Given the description of an element on the screen output the (x, y) to click on. 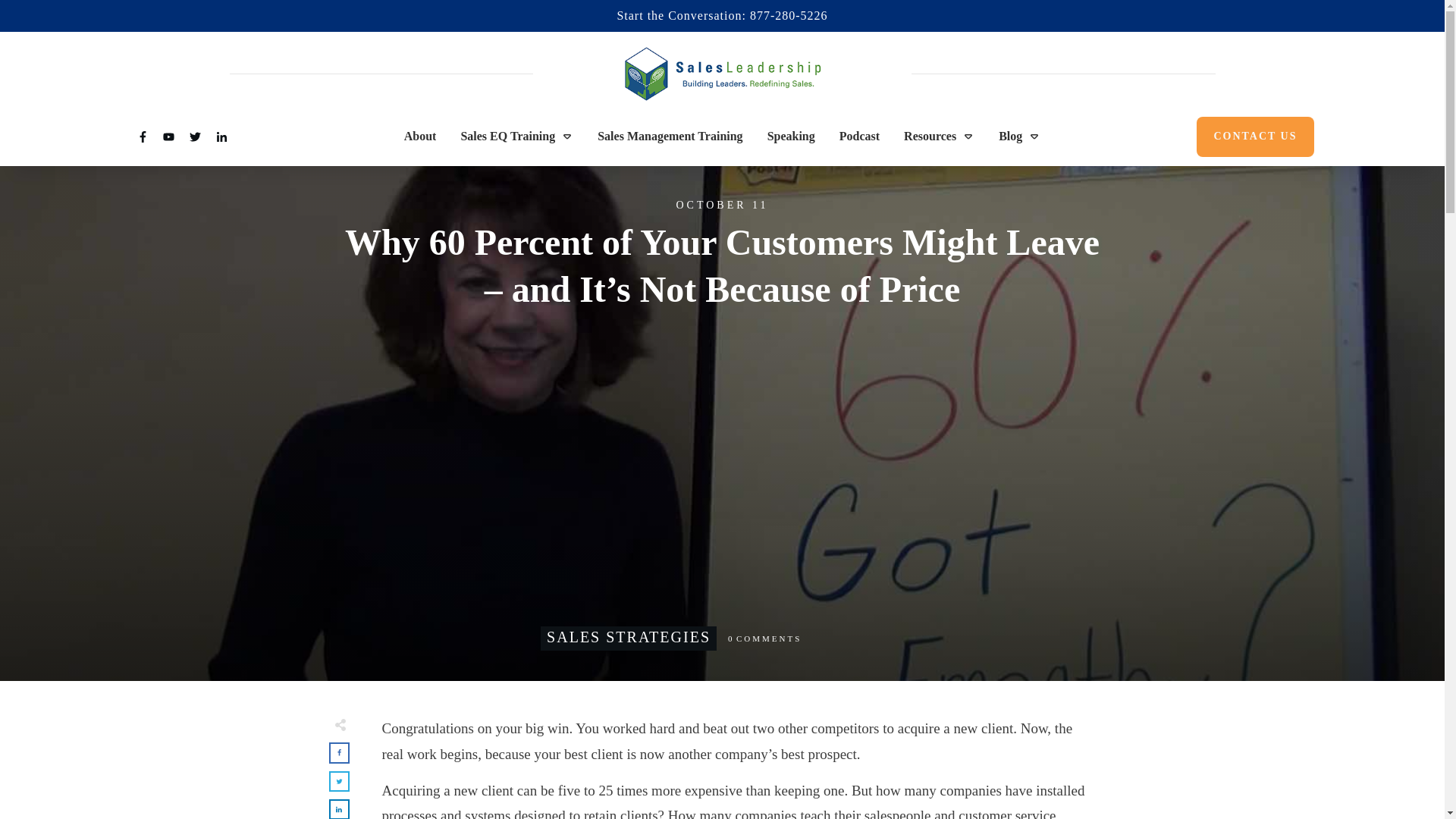
Resources (939, 136)
CONTACT US (1254, 137)
Podcast (859, 136)
Blog (1019, 136)
Speaking (791, 136)
Sales EQ Training (516, 136)
Sales Management Training (669, 136)
About (420, 136)
Sales Strategies (628, 636)
